Given the description of an element on the screen output the (x, y) to click on. 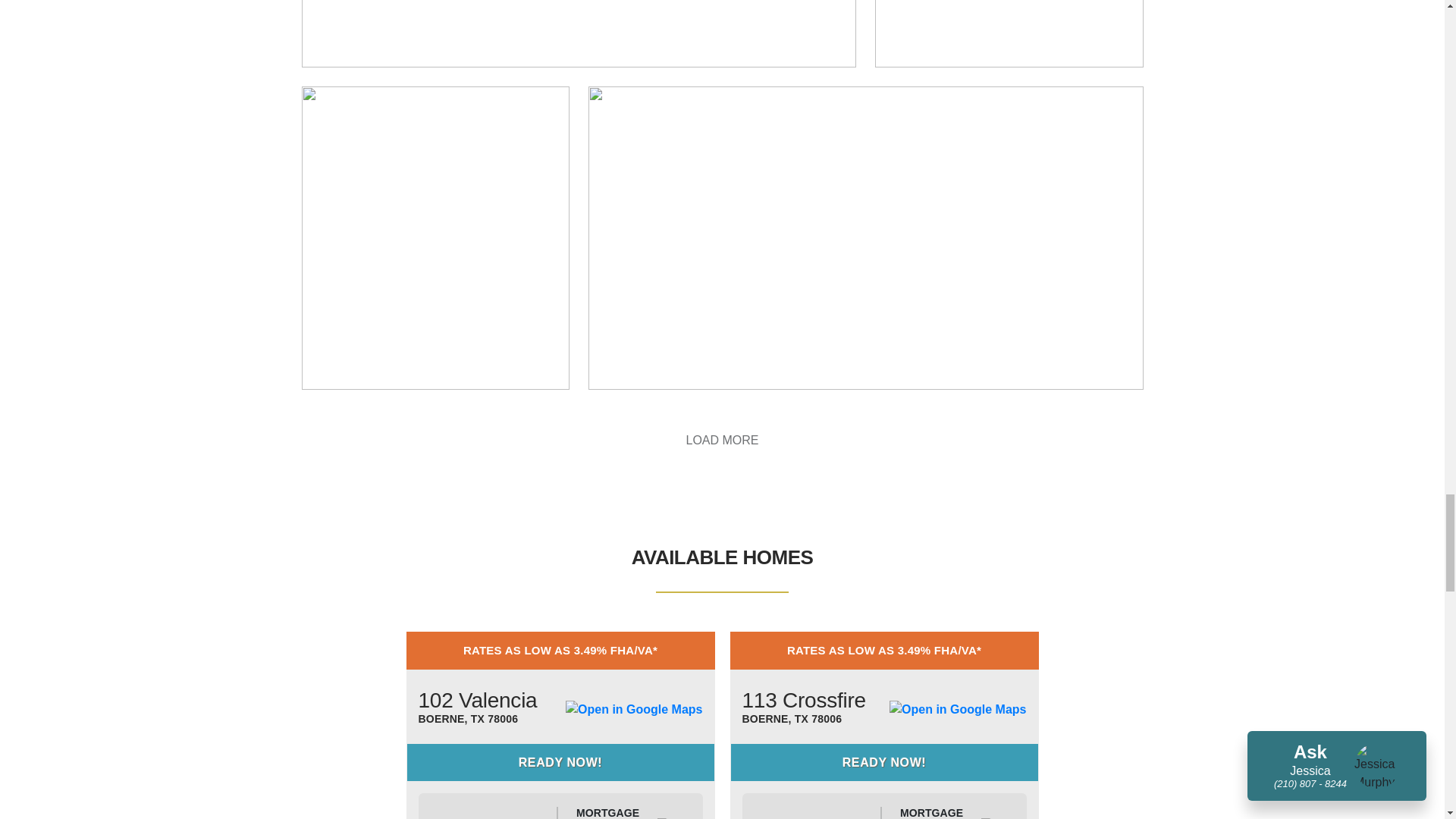
Map This Home (957, 710)
Map This Home (633, 710)
